Given the description of an element on the screen output the (x, y) to click on. 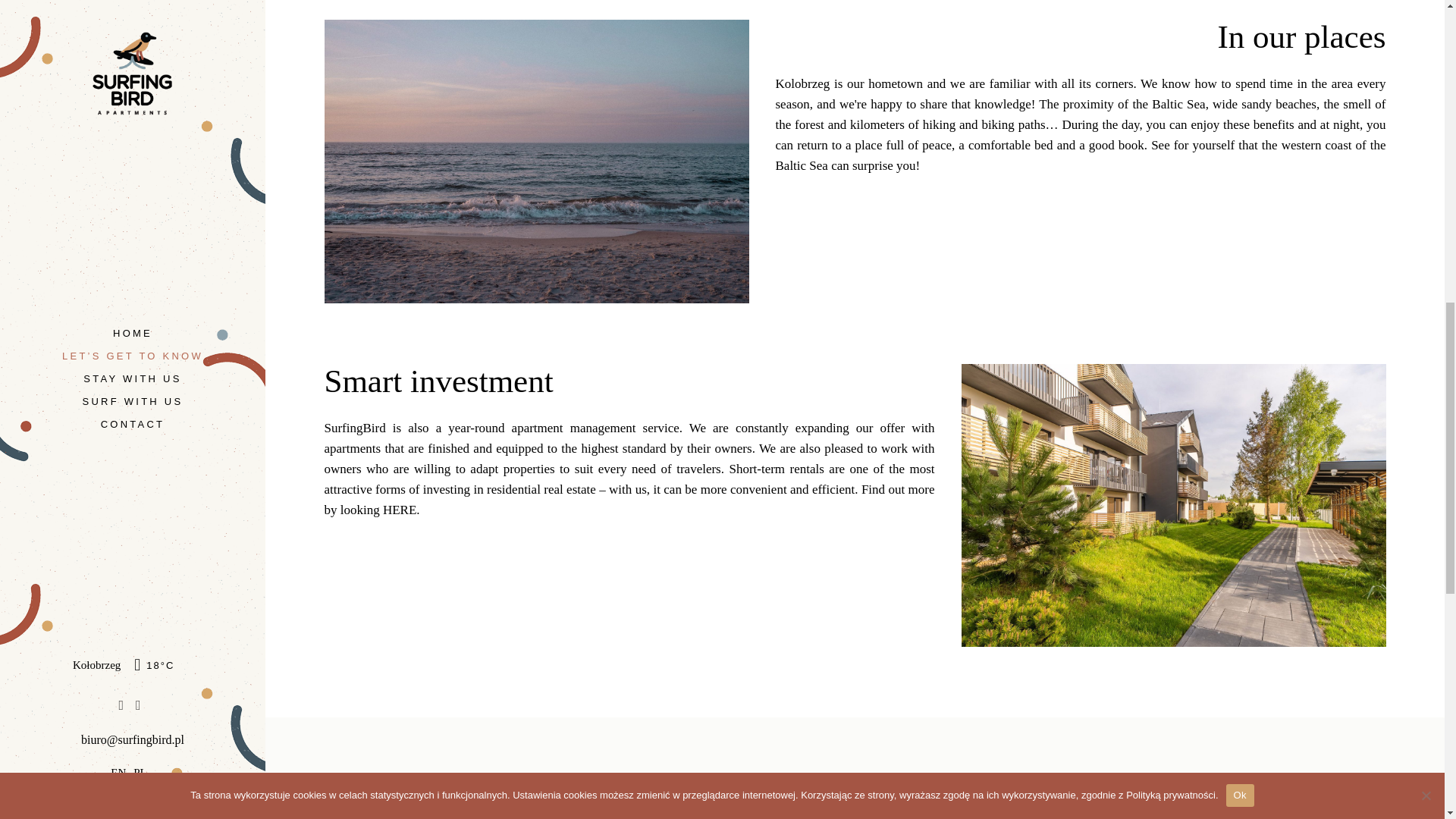
HERE (399, 509)
